Given the description of an element on the screen output the (x, y) to click on. 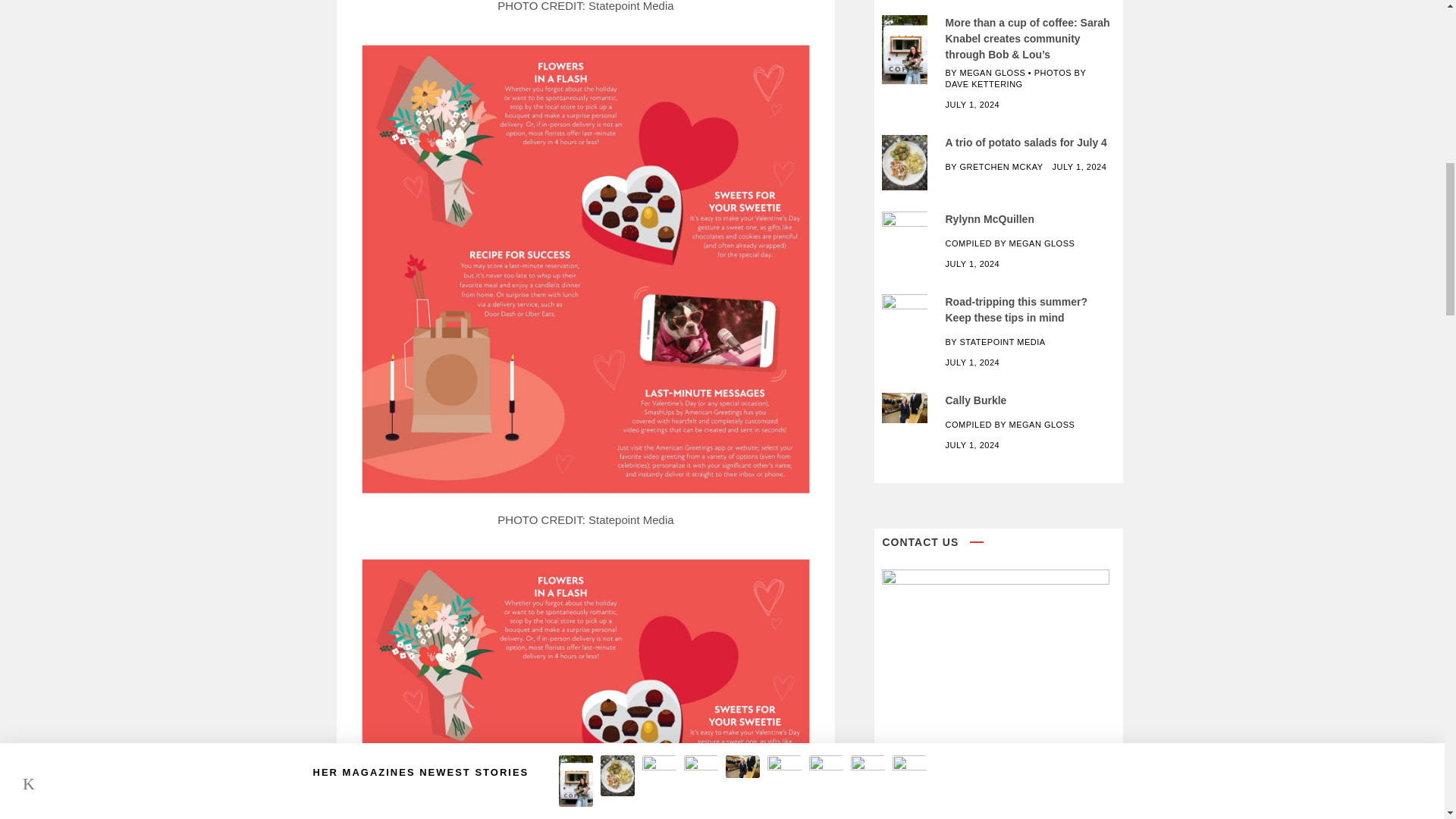
Posts by by statepoint media (994, 341)
Road Trip (904, 309)
Posts by compiled by megan gloss (1009, 243)
Posts by by gretchen mckay (993, 166)
